Given the description of an element on the screen output the (x, y) to click on. 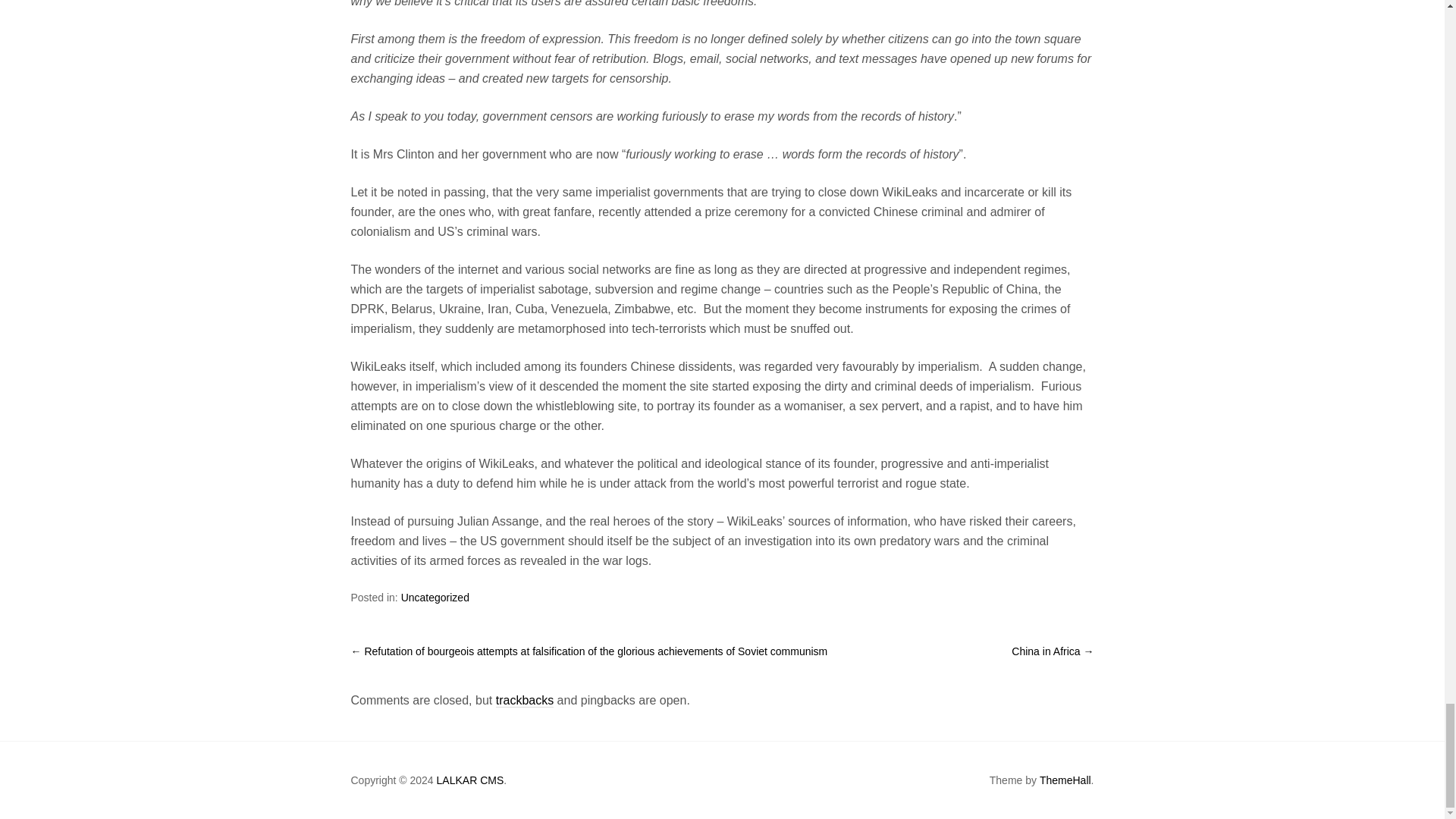
LALKAR CMS (469, 780)
Uncategorized (434, 597)
Trackback URL for this post (524, 700)
ThemeHall (1064, 780)
trackbacks (524, 700)
ThemeHall (1064, 780)
